Given the description of an element on the screen output the (x, y) to click on. 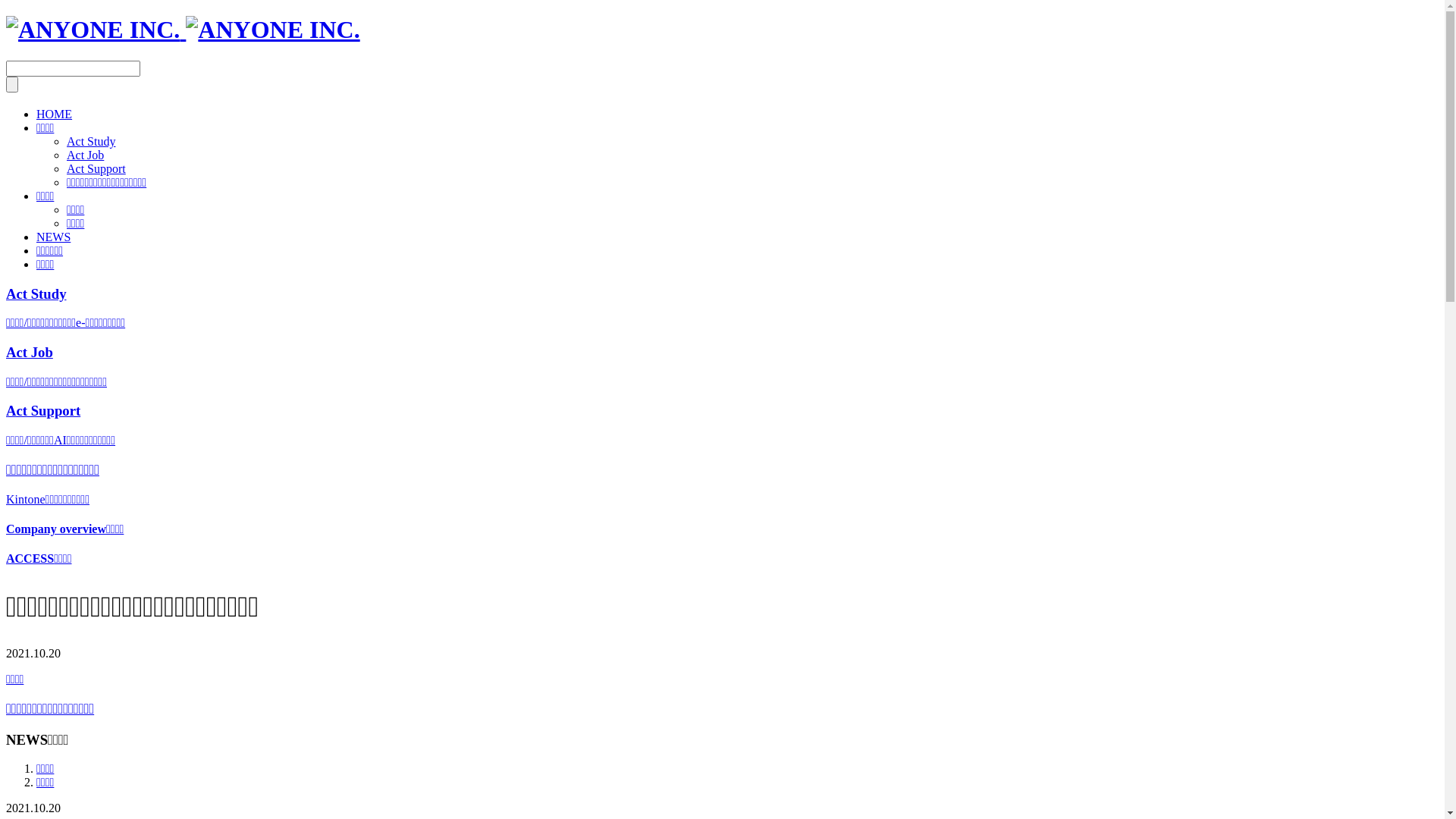
Act Study Element type: text (90, 140)
NEWS Element type: text (53, 236)
HOME Element type: text (54, 113)
ANYONE INC. Element type: hover (92, 29)
Act Job Element type: text (84, 154)
Act Support Element type: text (95, 168)
ANYONE INC. Element type: hover (183, 29)
ANYONE INC. Element type: hover (272, 29)
